Given the description of an element on the screen output the (x, y) to click on. 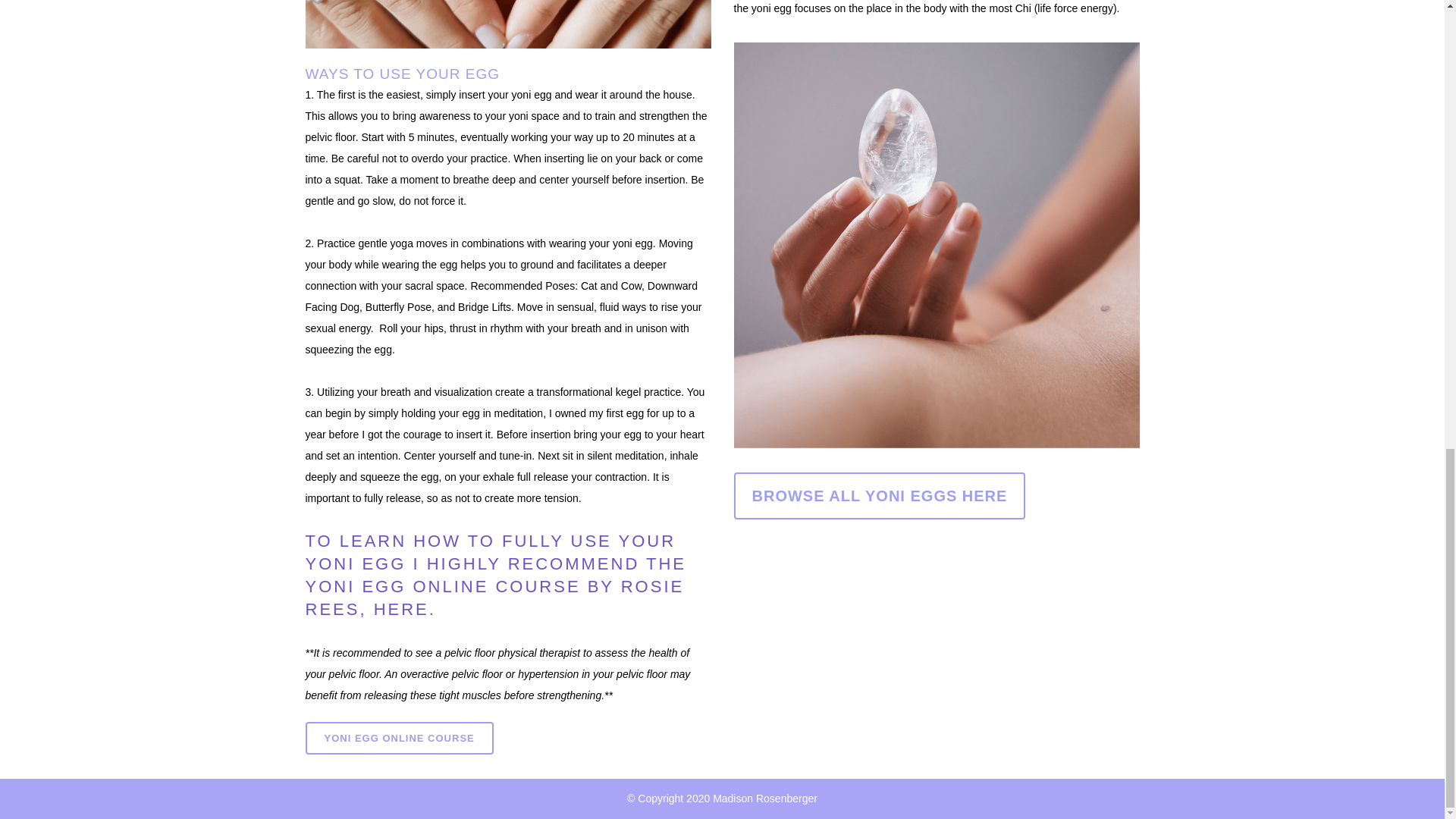
YONI EGG ONLINE COURSE (398, 737)
HERE (397, 609)
BROWSE ALL YONI EGGS HERE (879, 495)
